Given the description of an element on the screen output the (x, y) to click on. 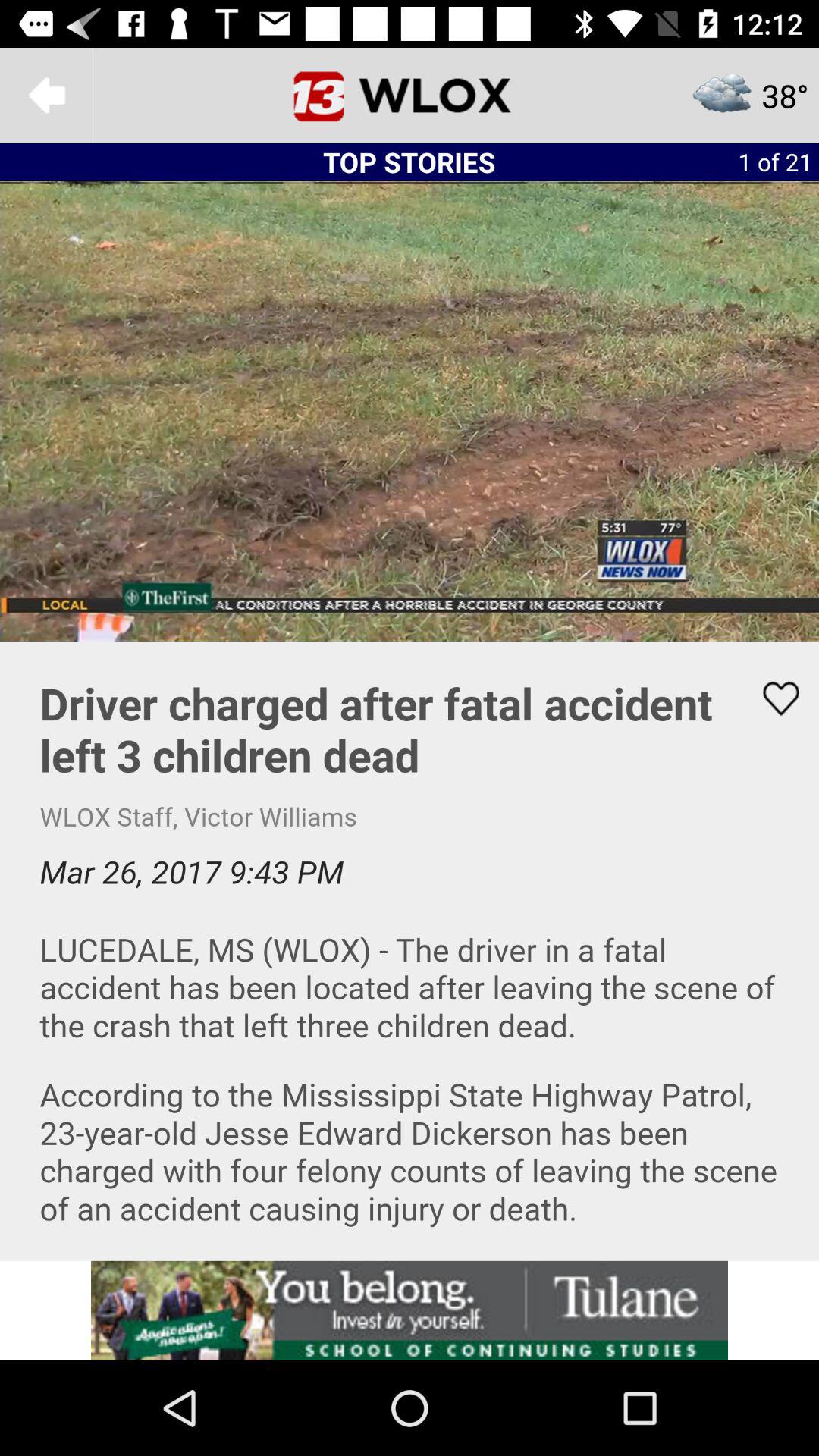
add to favorite (409, 950)
